Given the description of an element on the screen output the (x, y) to click on. 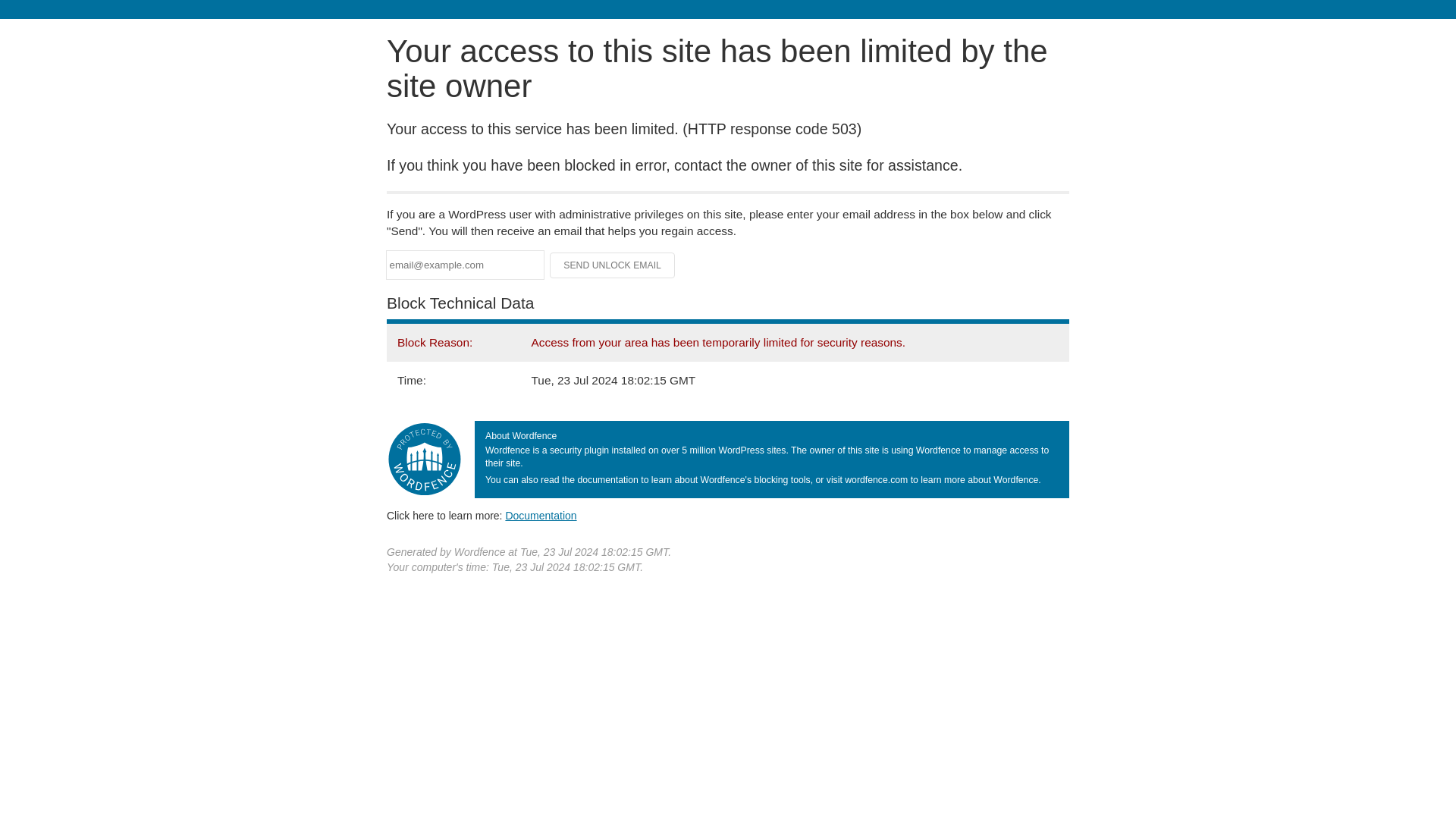
Documentation (540, 515)
Send Unlock Email (612, 265)
Send Unlock Email (612, 265)
